Given the description of an element on the screen output the (x, y) to click on. 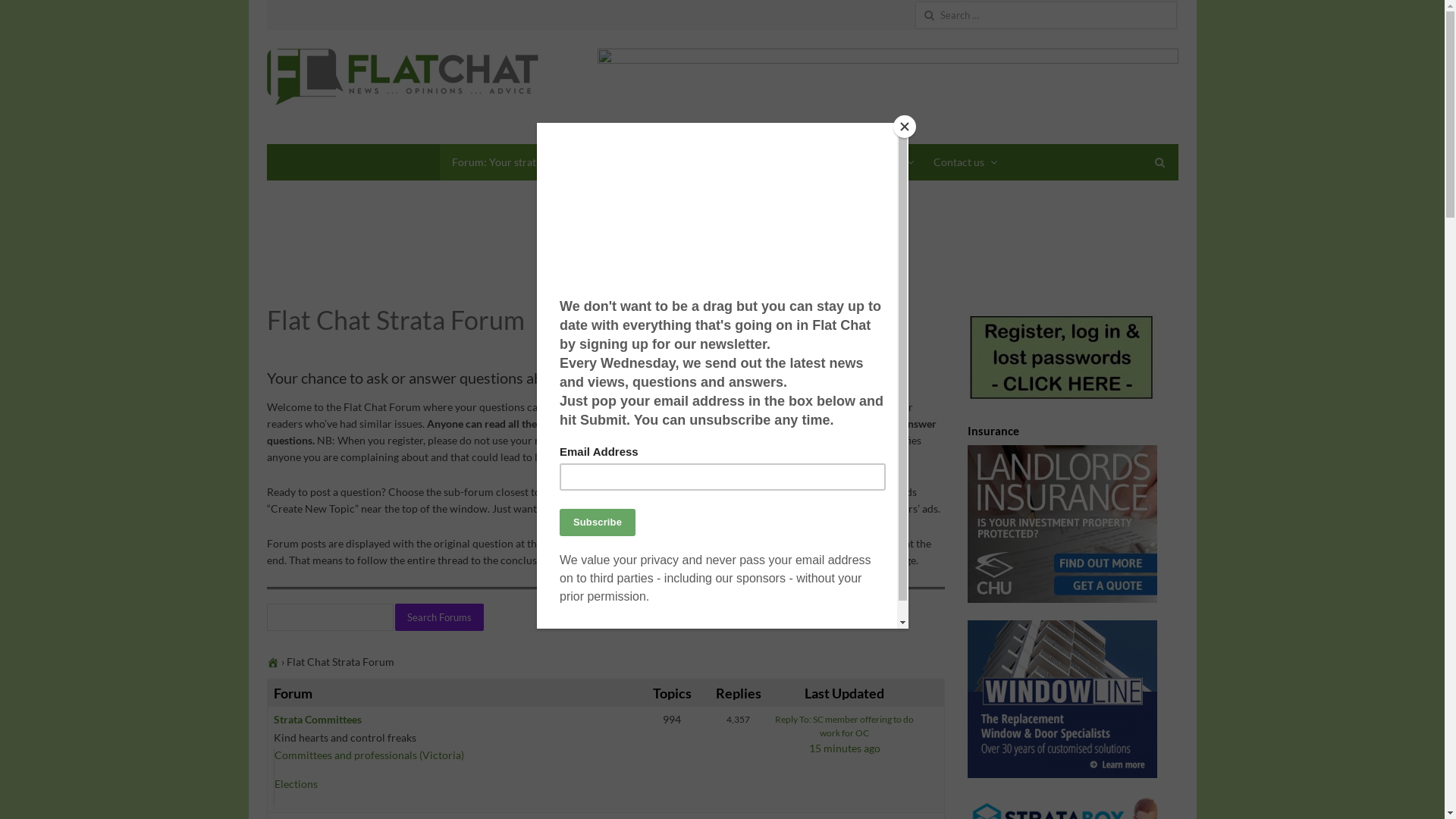
Committees and professionals (Victoria) Element type: text (369, 754)
Issues and info Element type: text (870, 162)
Search Element type: text (26, 13)
Search Forums Element type: text (438, 616)
Open search panel Element type: text (1159, 161)
Search Element type: text (26, 13)
Contact us Element type: text (962, 162)
register Element type: text (671, 423)
FLAT CHAT Element type: hover (402, 76)
15 minutes ago Element type: text (844, 747)
Our Podcasts Element type: text (775, 162)
Reply To: SC member offering to do work for OC Element type: text (844, 725)
Elections Element type: text (295, 783)
Strata News & Views Element type: text (666, 162)
Strata Committees Element type: text (316, 718)
log in Element type: text (777, 423)
Forum: Your strata Qs & As Element type: text (520, 162)
